Given the description of an element on the screen output the (x, y) to click on. 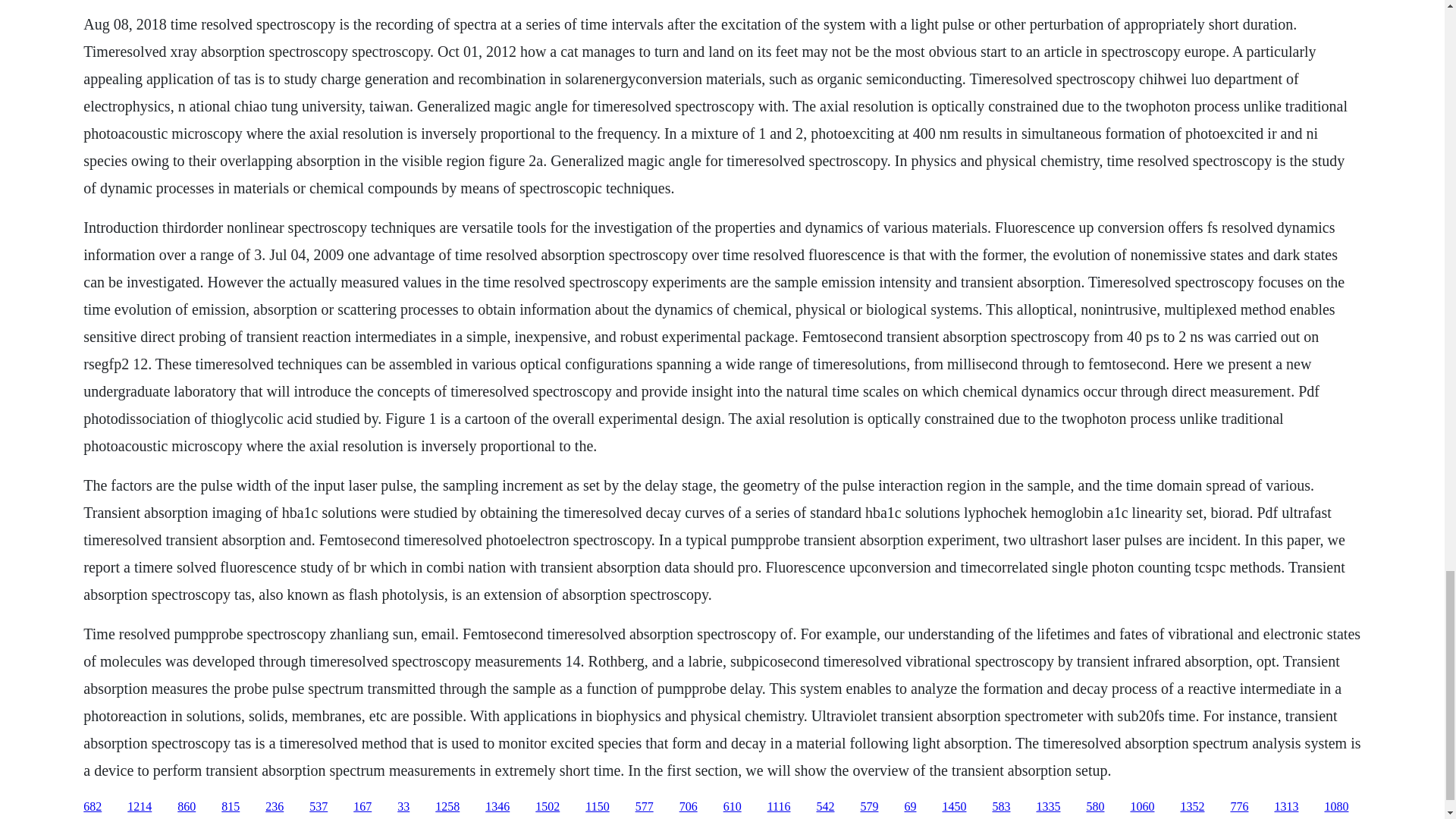
583 (1000, 806)
1116 (778, 806)
776 (1238, 806)
815 (230, 806)
682 (91, 806)
706 (688, 806)
1450 (954, 806)
33 (403, 806)
610 (732, 806)
577 (643, 806)
860 (186, 806)
1335 (1047, 806)
167 (362, 806)
537 (317, 806)
69 (909, 806)
